Given the description of an element on the screen output the (x, y) to click on. 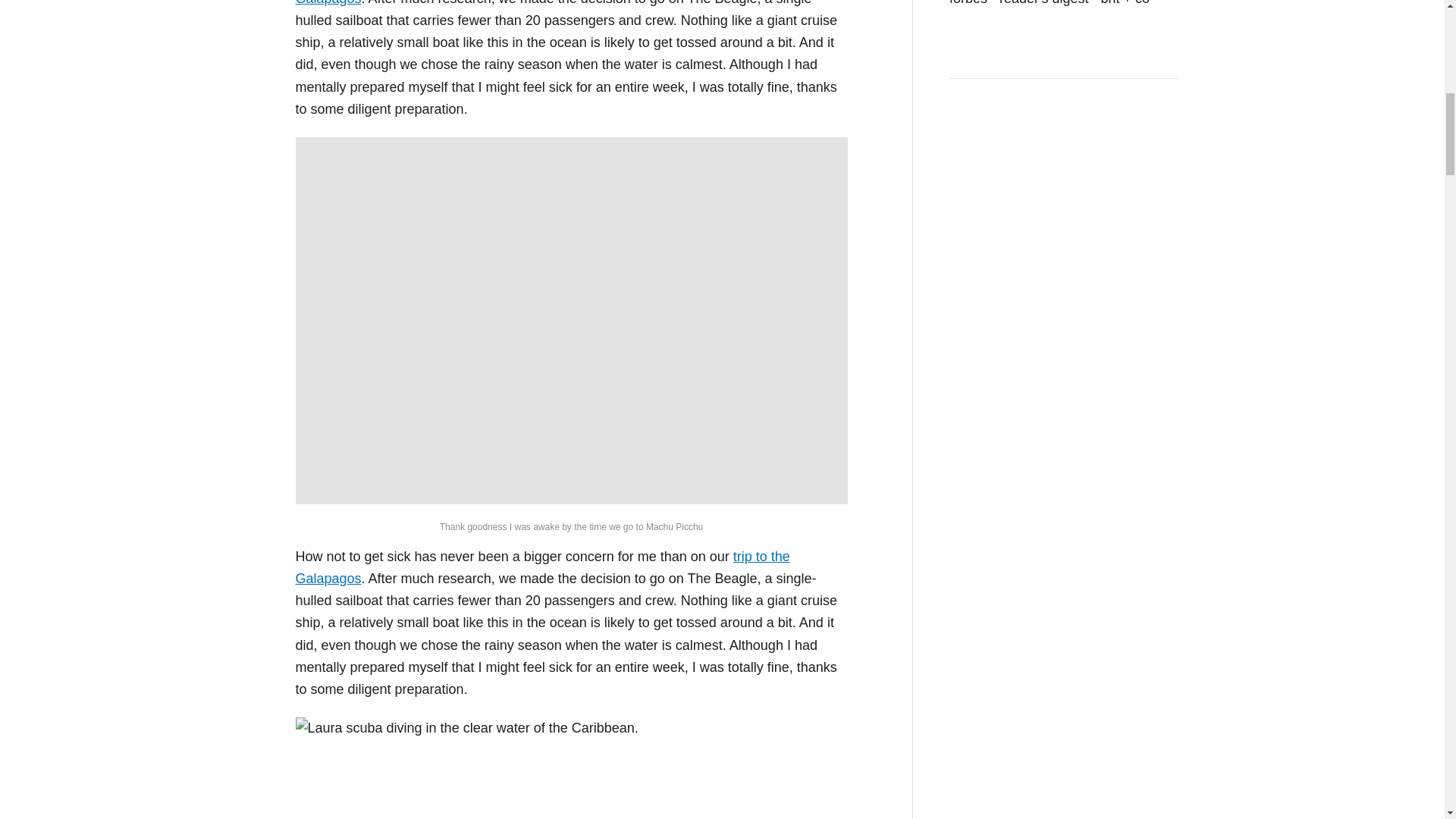
trip to the Galapagos (542, 567)
